Given the description of an element on the screen output the (x, y) to click on. 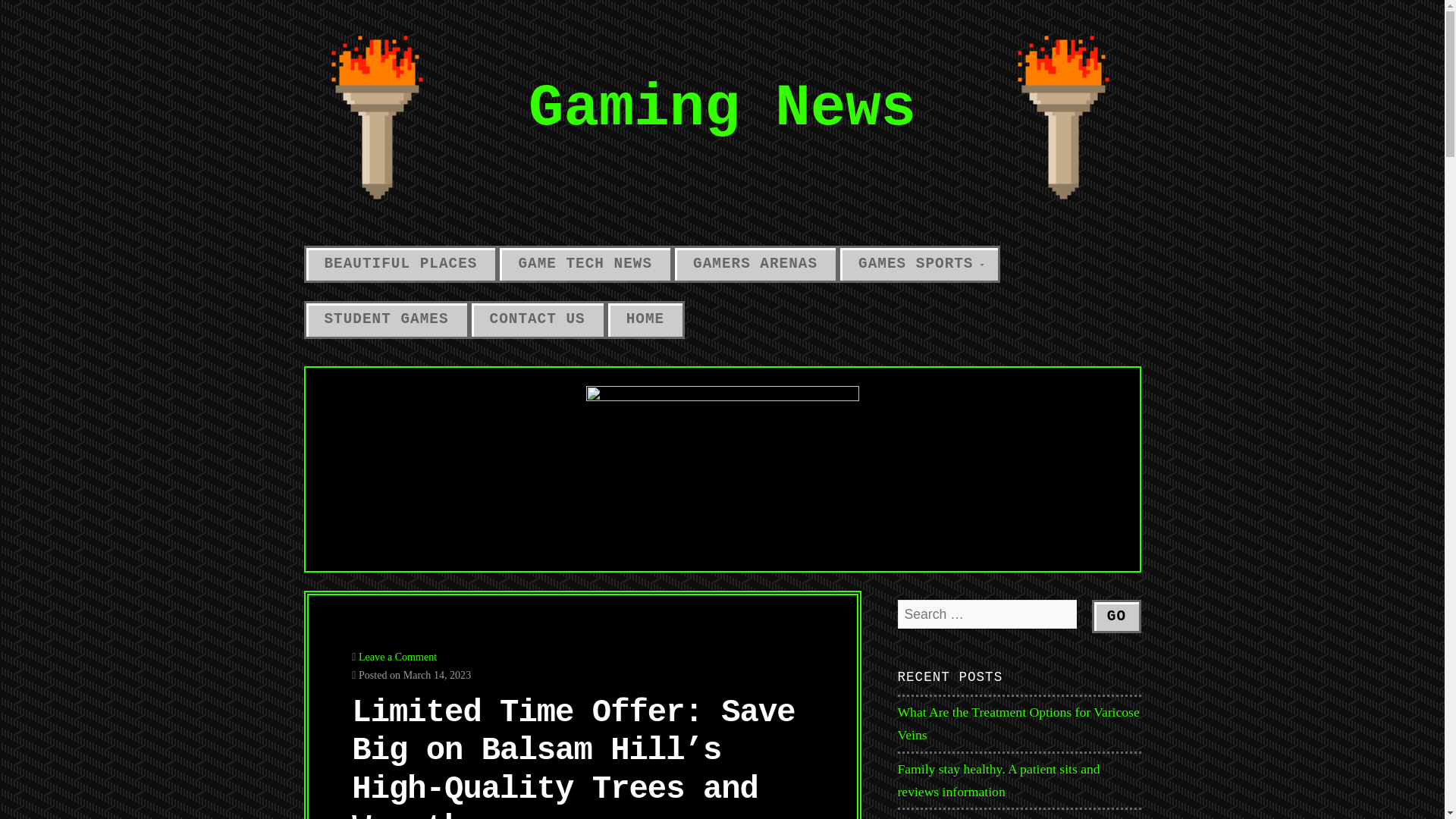
STUDENT GAMES (385, 319)
What Are the Treatment Options for Varicose Veins (1019, 723)
GAMES SPORTS (918, 263)
Go (1116, 616)
Gaming News (721, 108)
GAME TECH NEWS (584, 263)
Leave a Comment (397, 656)
HOME (644, 319)
CONTACT US (536, 319)
Go (1116, 616)
Family stay healthy. A patient sits and reviews information (999, 780)
GAMERS ARENAS (755, 263)
BEAUTIFUL PLACES (399, 263)
